Given the description of an element on the screen output the (x, y) to click on. 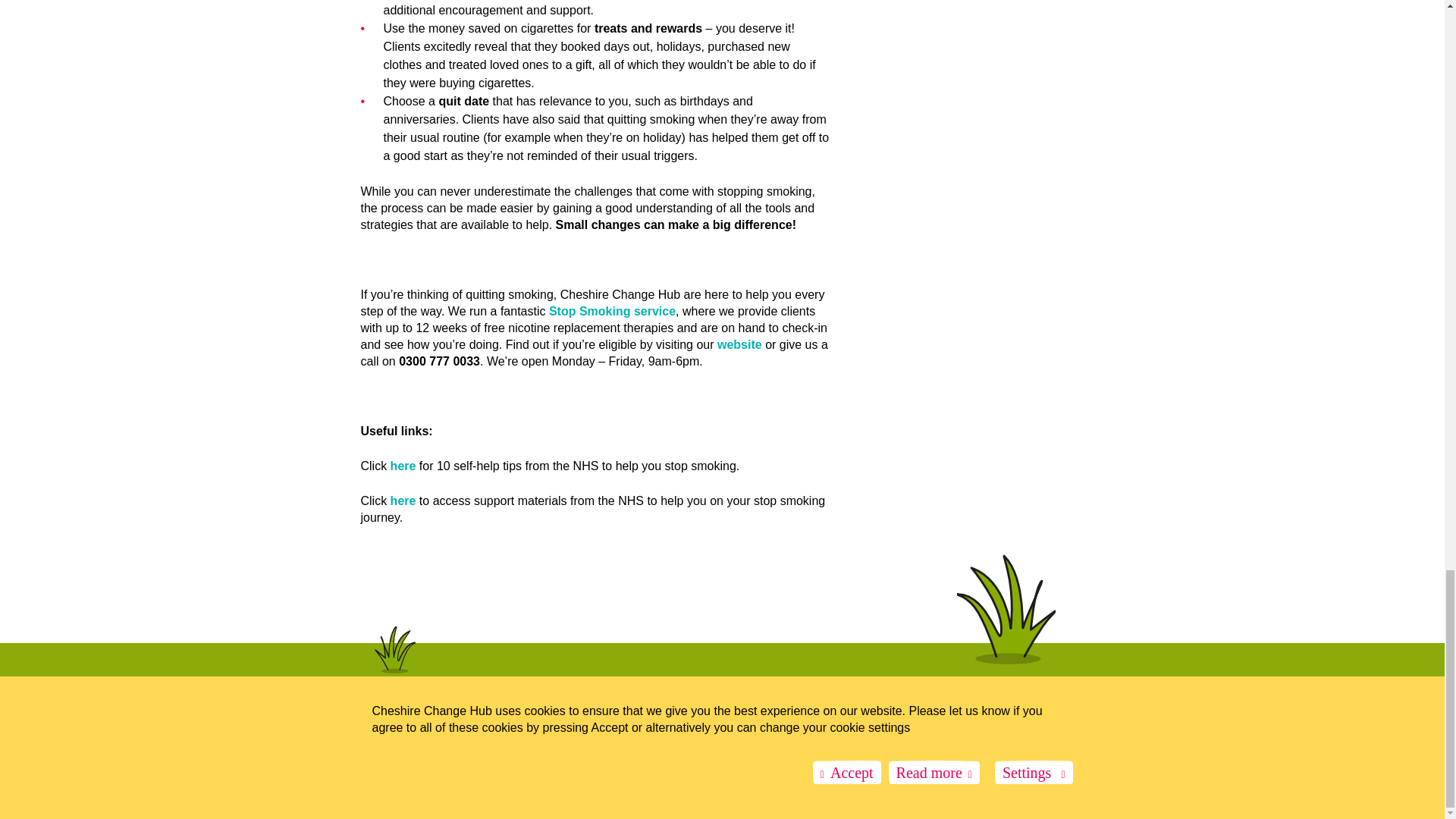
Privacy Policy (523, 741)
Website terms of use (445, 741)
website (739, 344)
Accessibility Policy (596, 741)
Partners (378, 741)
Stop Smoking service (611, 310)
here (403, 500)
here (403, 465)
